Given the description of an element on the screen output the (x, y) to click on. 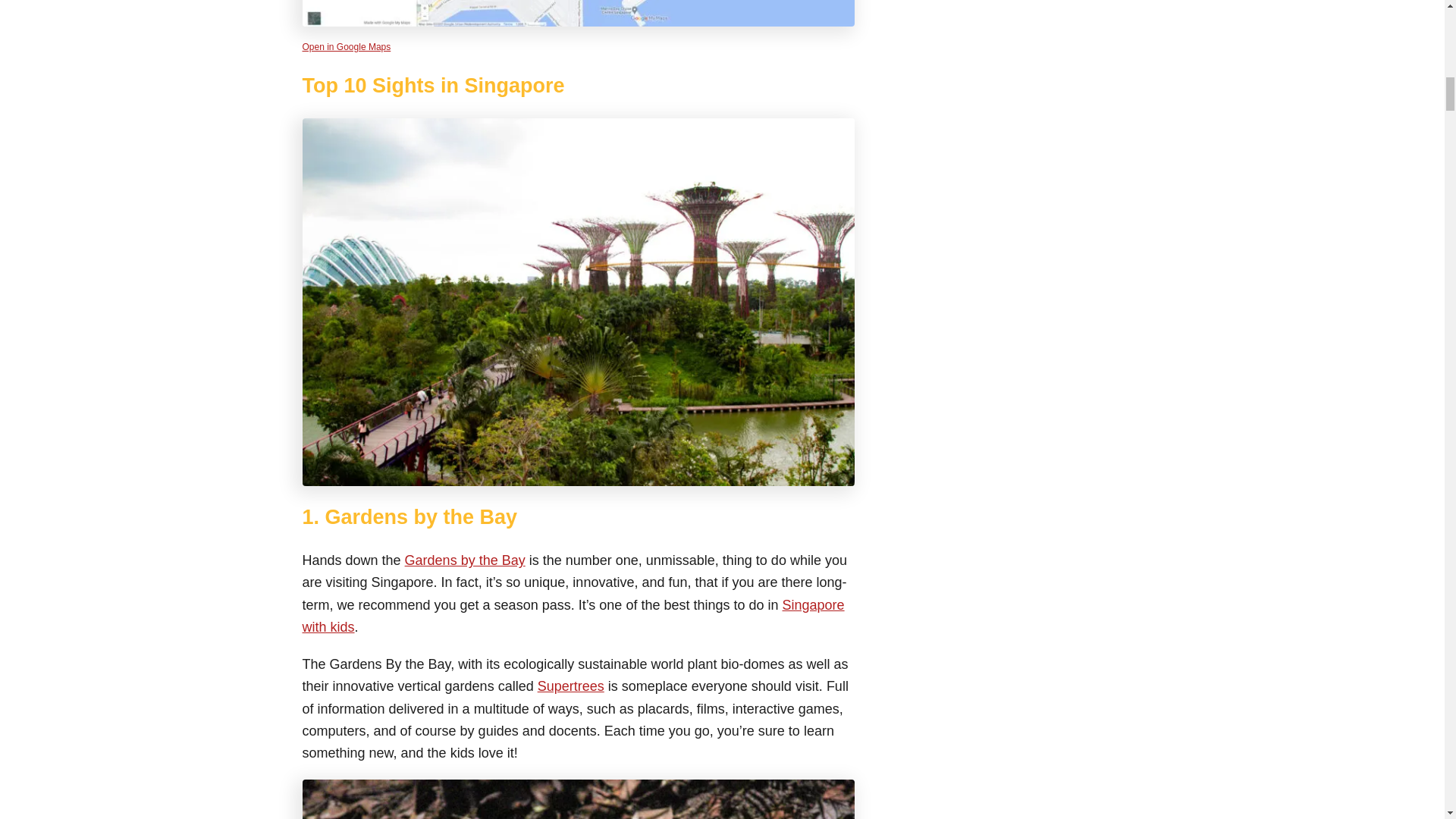
Gardens by the Bay (464, 560)
Supertrees (570, 685)
Open in Google Maps (345, 46)
Singapore with kids (572, 615)
